Given the description of an element on the screen output the (x, y) to click on. 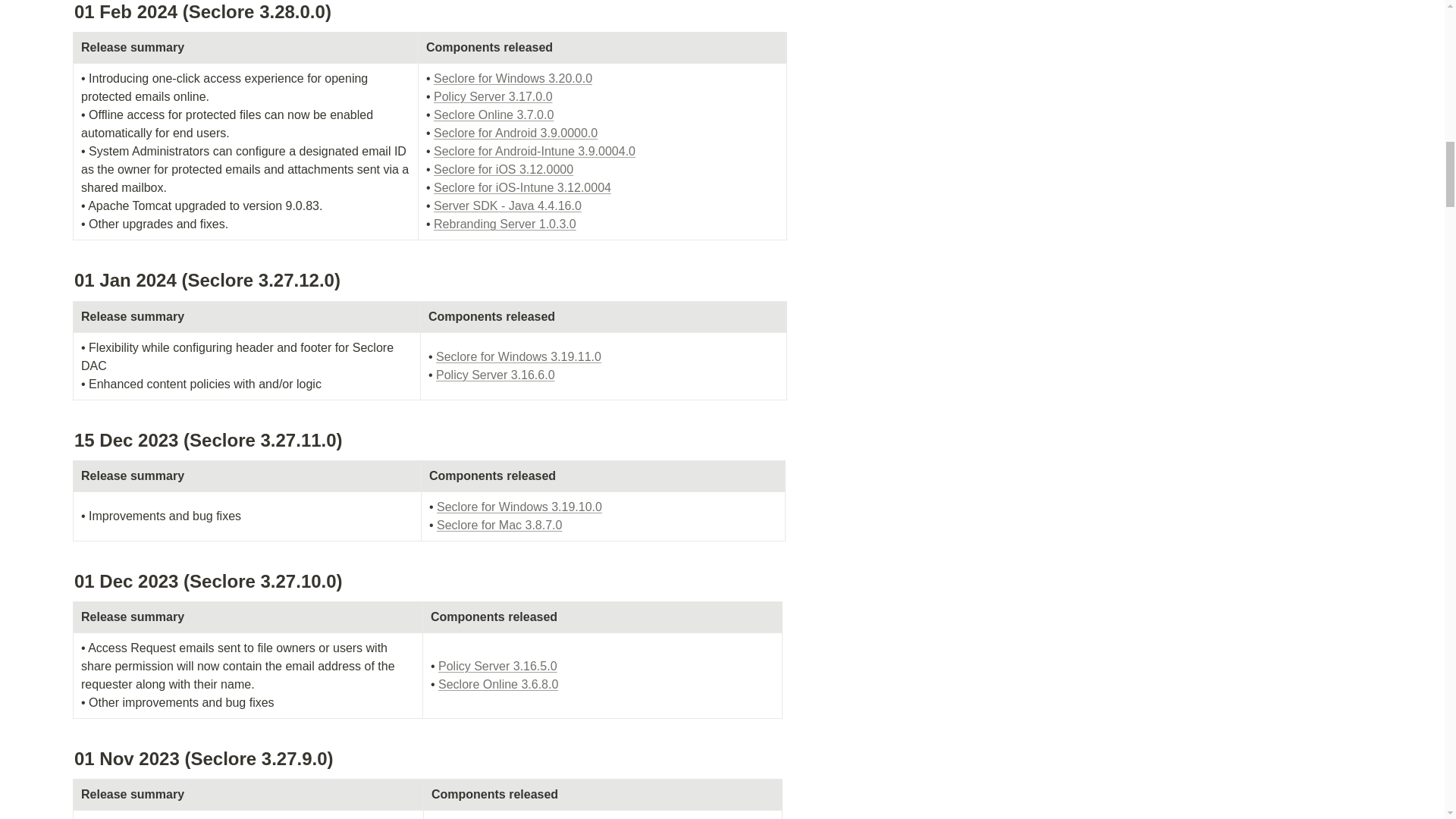
Seclore for Windows 3.20.0.0 (512, 78)
Seclore for Android 3.9.0000.0 (514, 132)
Seclore for Mac 3.8.7.0 (499, 524)
Seclore Online 3.6.8.0 (497, 684)
Seclore Online 3.7.0.0 (493, 114)
Rebranding Server 1.0.3.0 (504, 223)
Seclore for Android-Intune 3.9.0004.0 (533, 151)
Seclore for iOS-Intune 3.12.0004 (522, 187)
Policy Server 3.16.5.0 (497, 666)
Seclore for iOS 3.12.0000 (503, 169)
Seclore for Windows 3.19.11.0 (518, 356)
Seclore for Windows 3.19.10.0 (519, 506)
Server SDK - Java 4.4.16.0 (506, 205)
Policy Server 3.17.0.0 (493, 96)
Policy Server 3.16.6.0 (494, 374)
